Given the description of an element on the screen output the (x, y) to click on. 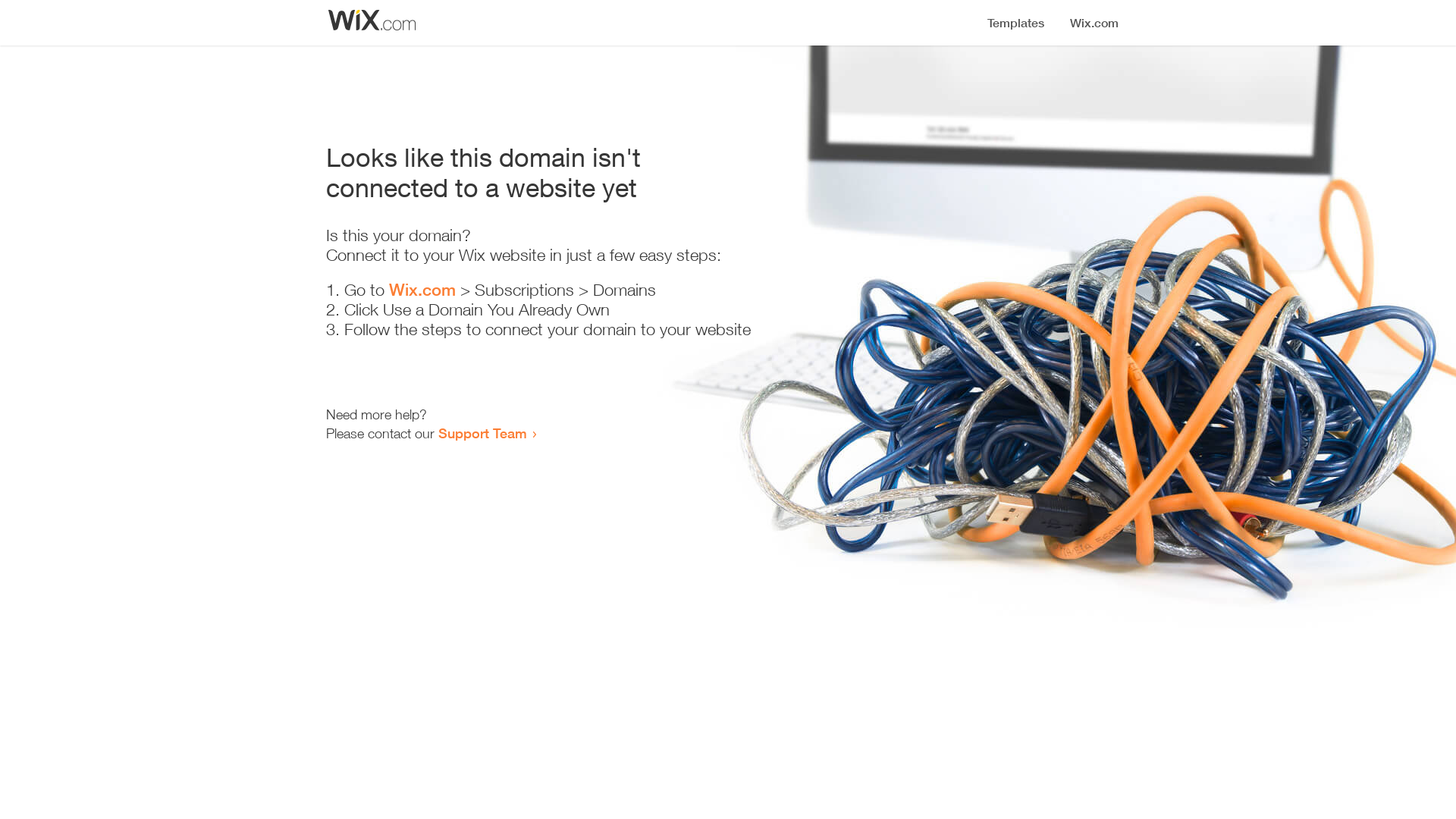
Support Team Element type: text (482, 432)
Wix.com Element type: text (422, 289)
